Given the description of an element on the screen output the (x, y) to click on. 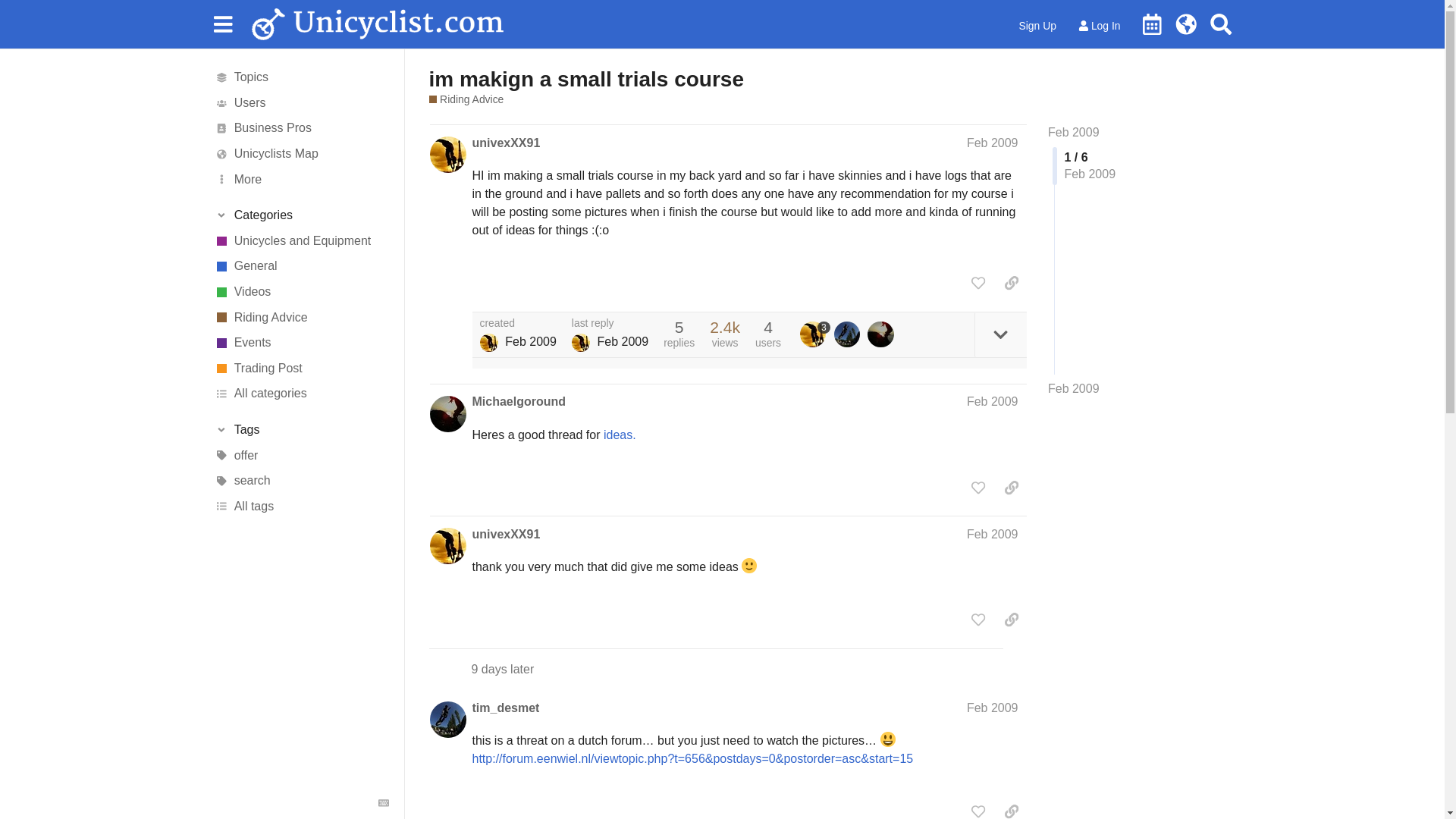
Videos (301, 291)
Categories (301, 216)
Business Pros (301, 128)
Topics (301, 77)
Toggle section (301, 429)
Events (301, 343)
Tags (301, 429)
Feb 2009 (1073, 388)
offer (301, 455)
Search (1220, 23)
univexXX91 (505, 143)
Keyboard Shortcuts (384, 802)
im makign a small trials course (586, 78)
Unicycle World Map (1186, 23)
